Given the description of an element on the screen output the (x, y) to click on. 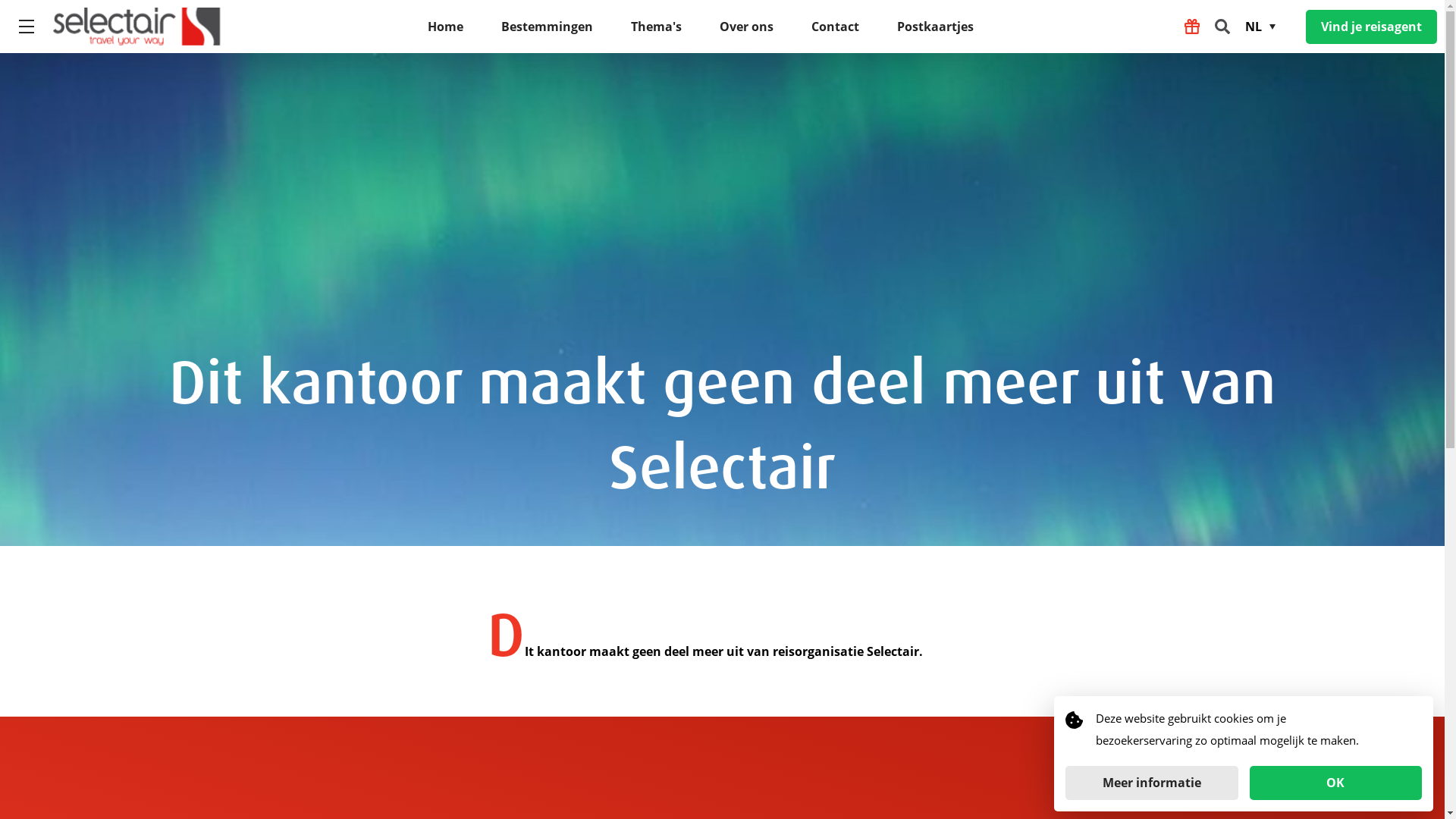
Postkaartjes Element type: text (934, 26)
Contact Element type: text (835, 26)
Thema's Element type: text (655, 26)
Over ons Element type: text (745, 26)
Meer informatie Element type: text (1151, 782)
Home Element type: text (445, 26)
Bestemmingen Element type: text (546, 26)
NL Element type: text (1265, 26)
OK Element type: text (1335, 782)
Vind je reisagent Element type: text (1371, 26)
